Given the description of an element on the screen output the (x, y) to click on. 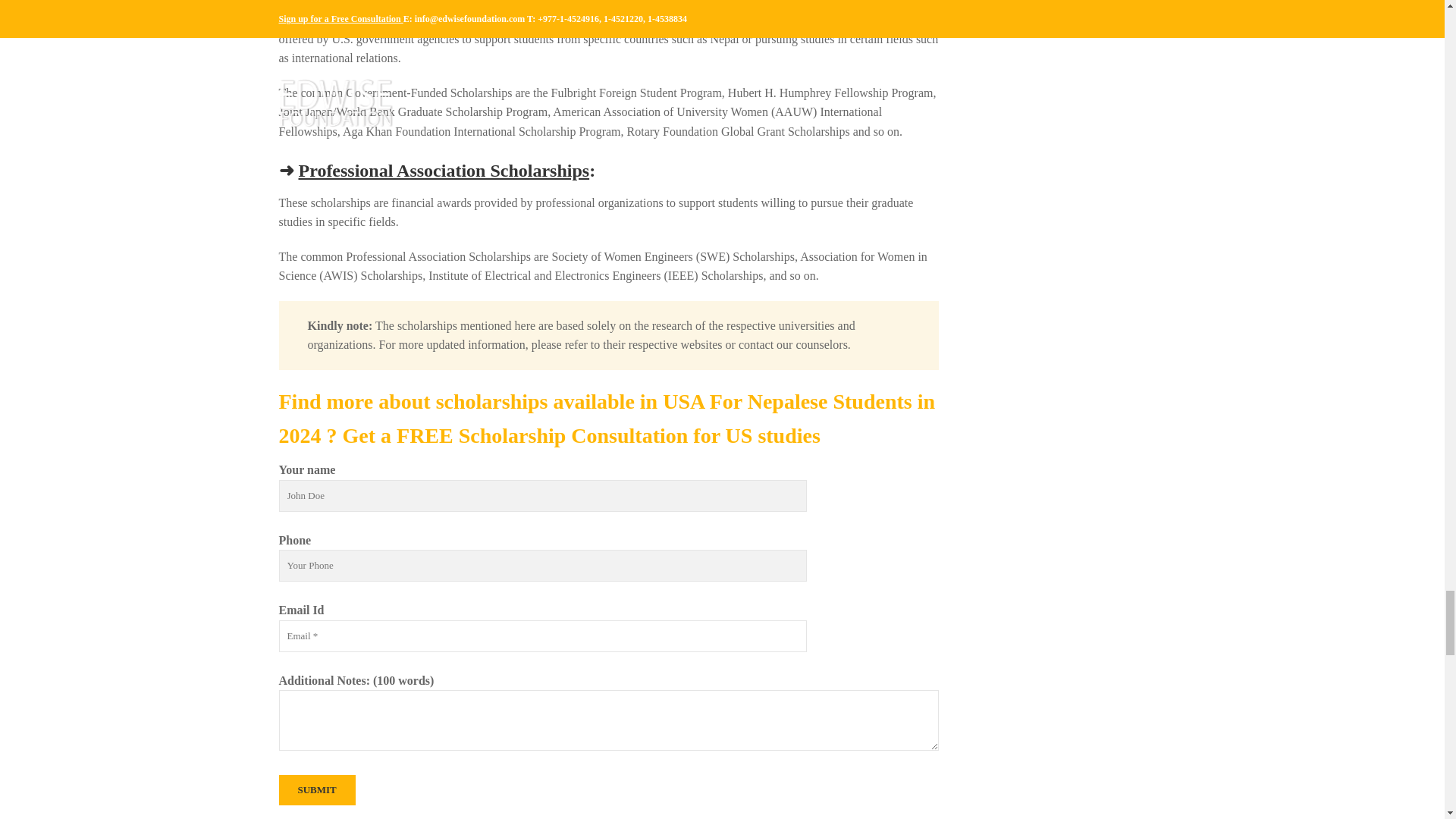
Submit (317, 789)
